Given the description of an element on the screen output the (x, y) to click on. 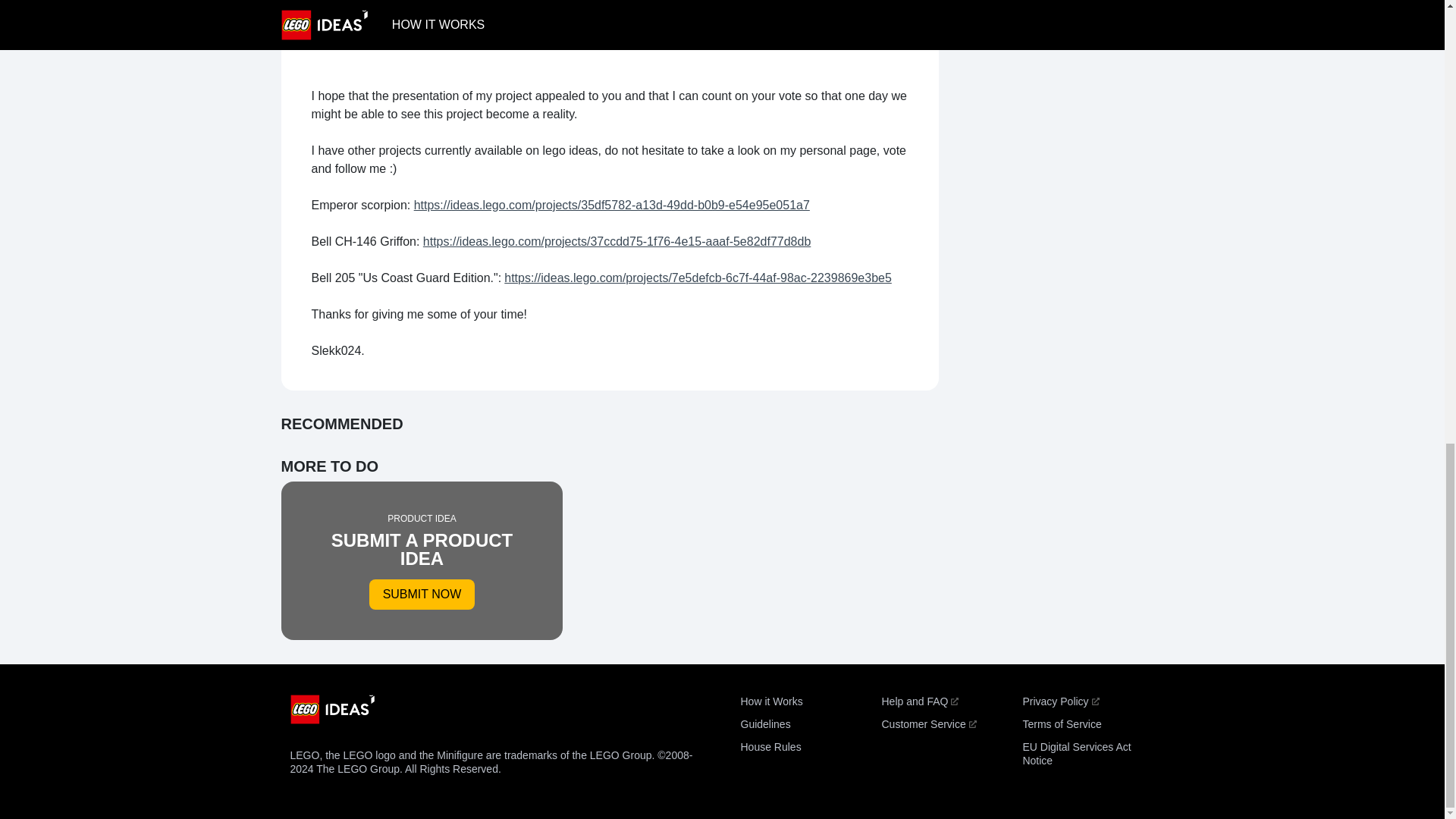
House Rules (769, 746)
Terms of Service (1061, 724)
Privacy Policy (1060, 701)
Guidelines (764, 724)
Help and FAQ (919, 701)
How it Works (421, 560)
EU Digital Services Act Notice (770, 701)
Customer Service (1076, 753)
